Given the description of an element on the screen output the (x, y) to click on. 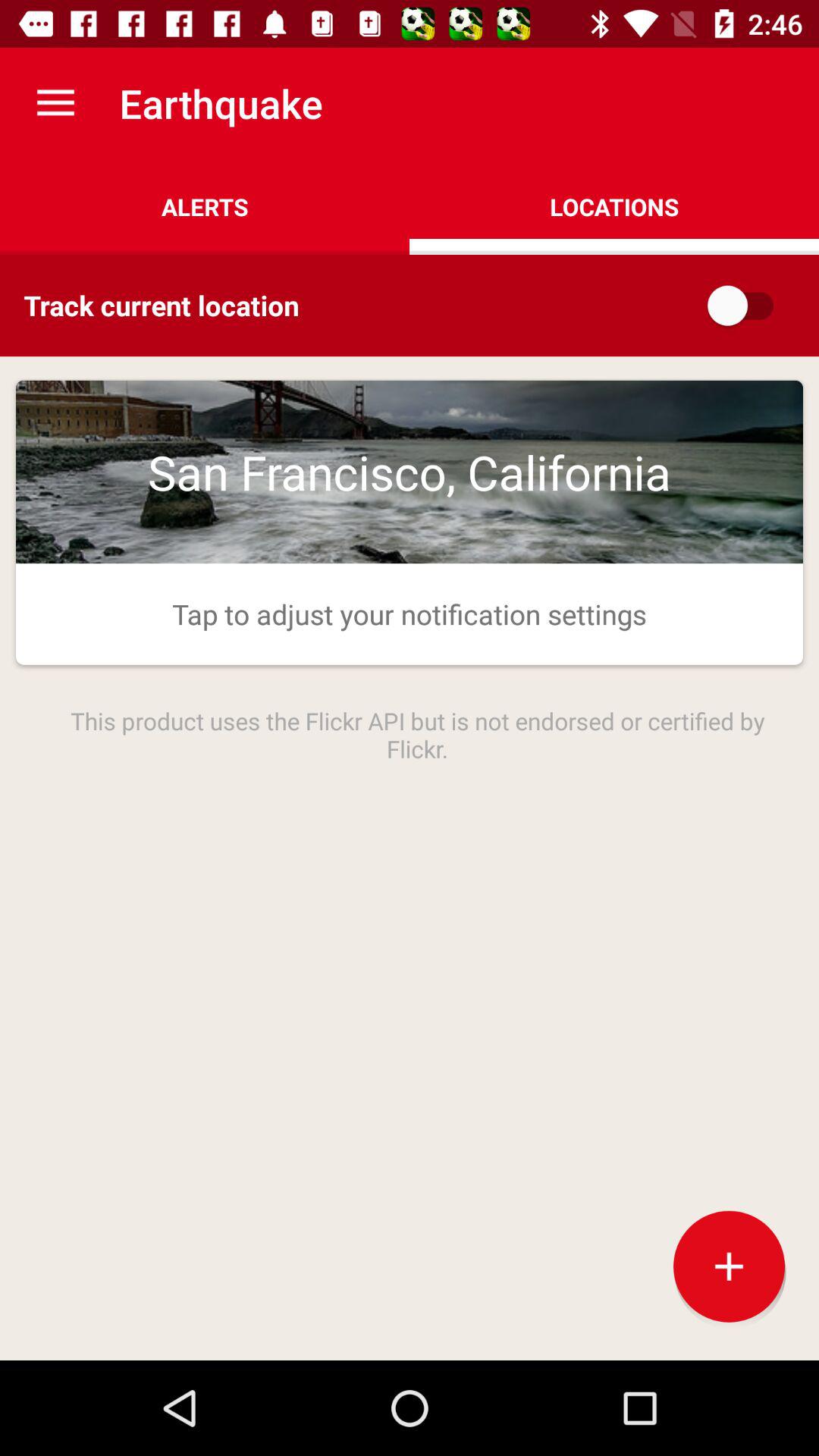
launch the item next to alerts item (614, 206)
